Given the description of an element on the screen output the (x, y) to click on. 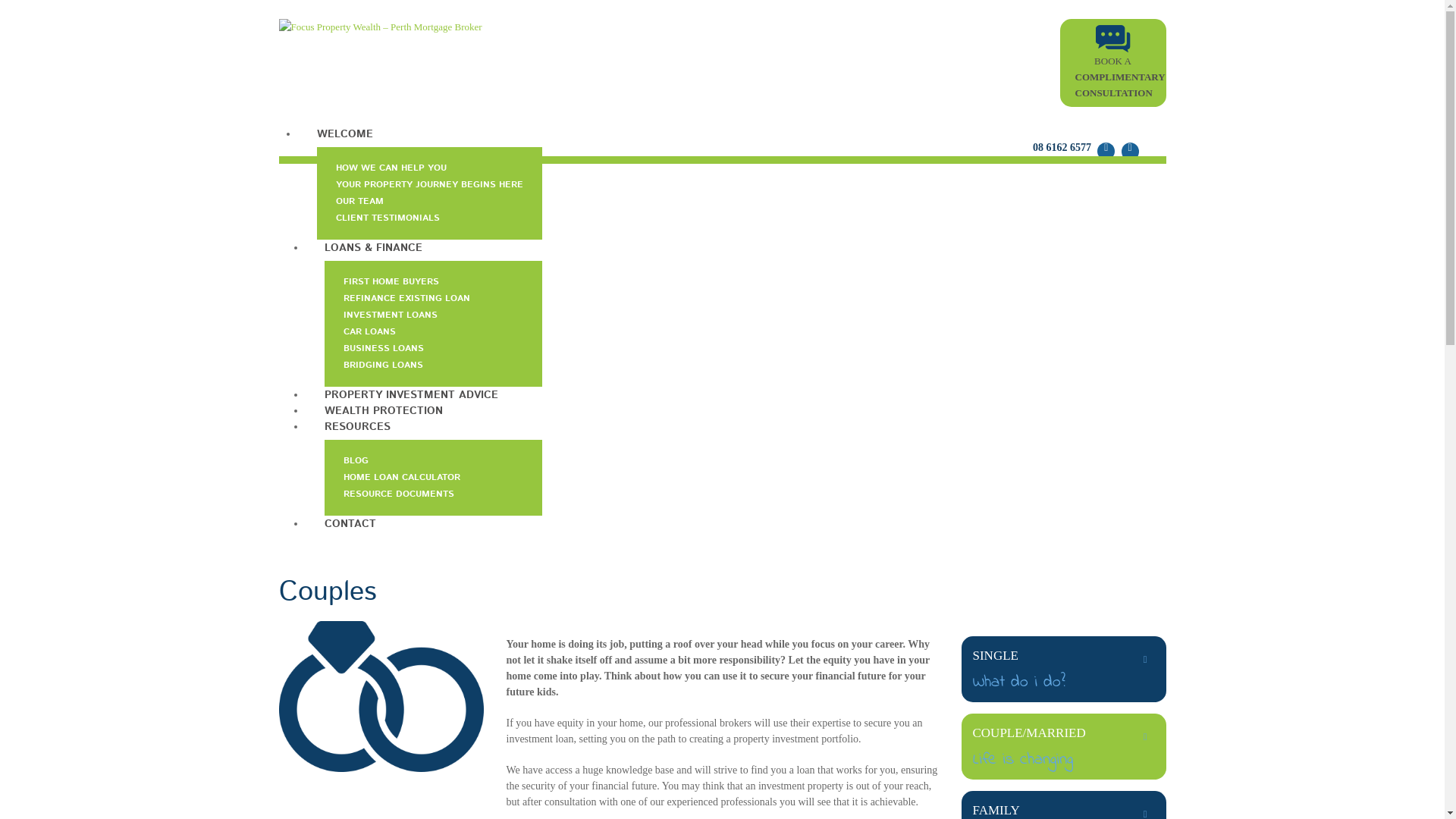
SINGLE

What do i do? Element type: text (1063, 668)
CONTACT Element type: text (349, 521)
RESOURCES Element type: text (356, 424)
PROPERTY INVESTMENT ADVICE Element type: text (410, 393)
CAR LOANS Element type: text (368, 331)
BOOK A COMPLIMENTARY CONSULTATION Element type: text (1120, 61)
WELCOME Element type: text (344, 132)
HOW WE CAN HELP YOU Element type: text (390, 168)
WEALTH PROTECTION Element type: text (382, 408)
YOUR PROPERTY JOURNEY BEGINS HERE Element type: text (428, 184)
RESOURCE DOCUMENTS Element type: text (397, 494)
OUR TEAM Element type: text (358, 201)
08 6162 6577 Element type: text (1061, 147)
Your finance is our FOCUS Element type: hover (380, 26)
REFINANCE EXISTING LOAN Element type: text (405, 298)
HOME LOAN CALCULATOR Element type: text (400, 477)
COUPLE/MARRIED

Life is changing Element type: text (1063, 745)
CLIENT TESTIMONIALS Element type: text (387, 218)
BRIDGING LOANS Element type: text (382, 365)
INVESTMENT LOANS Element type: text (389, 315)
LOANS & FINANCE Element type: text (372, 245)
BUSINESS LOANS Element type: text (382, 348)
BLOG Element type: text (354, 460)
FIRST HOME BUYERS Element type: text (390, 281)
